Given the description of an element on the screen output the (x, y) to click on. 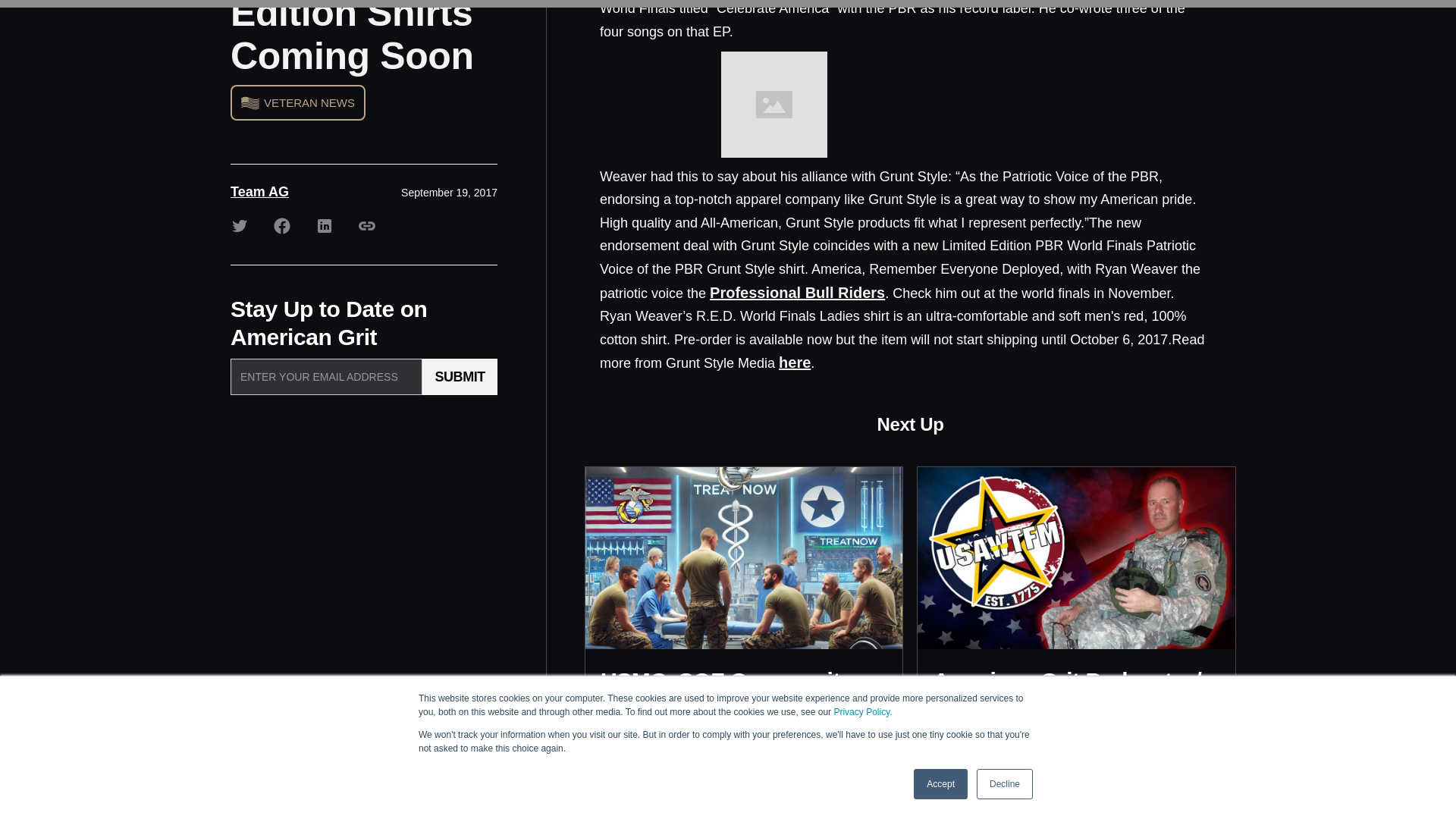
Submit (459, 376)
